Given the description of an element on the screen output the (x, y) to click on. 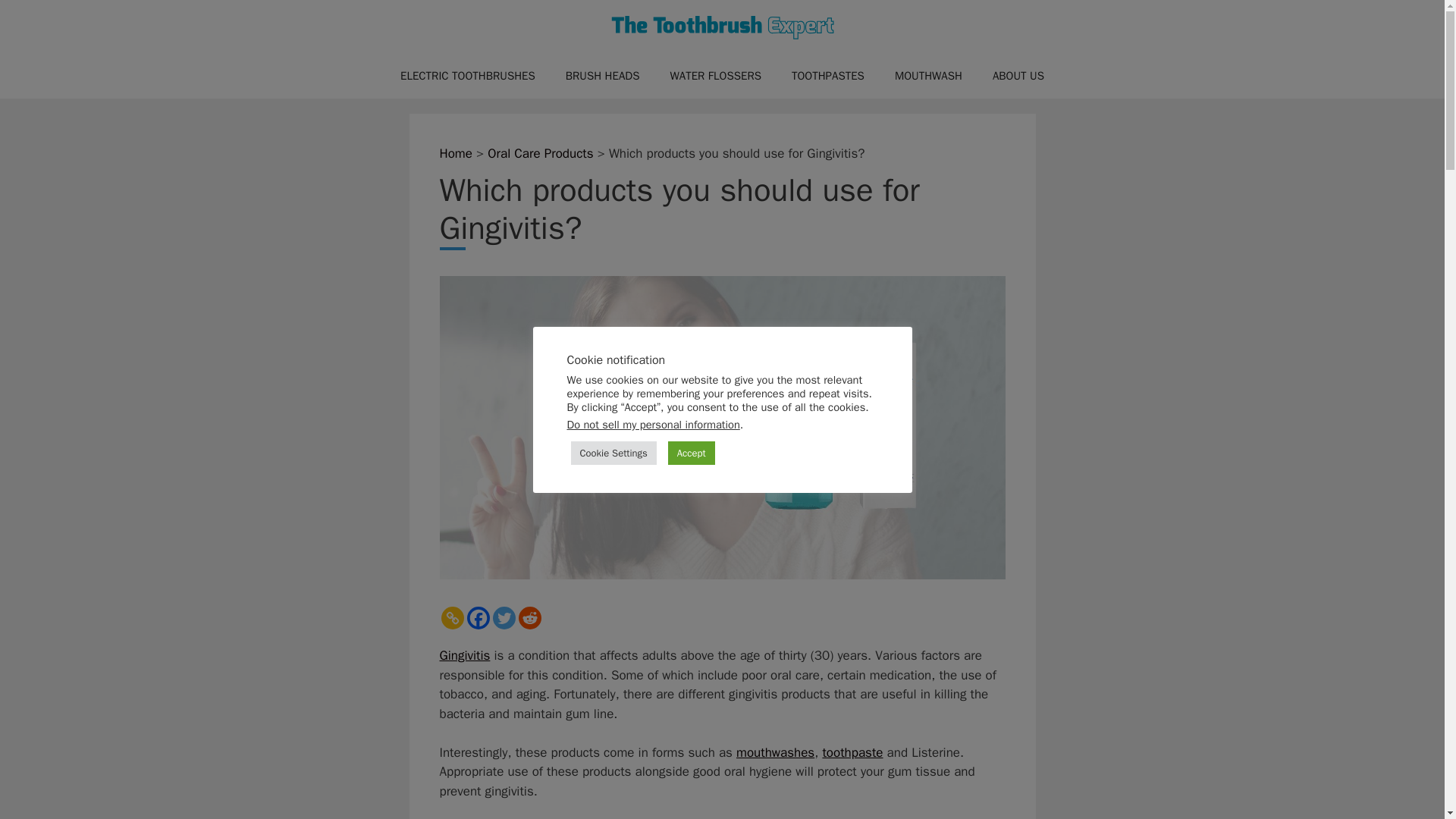
ABOUT US (1017, 75)
BRUSH HEADS (602, 75)
Home (455, 153)
mouthwashes (774, 752)
WATER FLOSSERS (714, 75)
toothpaste (852, 752)
Facebook (478, 617)
Reddit (529, 617)
Twitter (504, 617)
Copy Link (452, 617)
Gingivitis (464, 655)
ELECTRIC TOOTHBRUSHES (467, 75)
TOOTHPASTES (827, 75)
Oral Care Products (539, 153)
MOUTHWASH (927, 75)
